Given the description of an element on the screen output the (x, y) to click on. 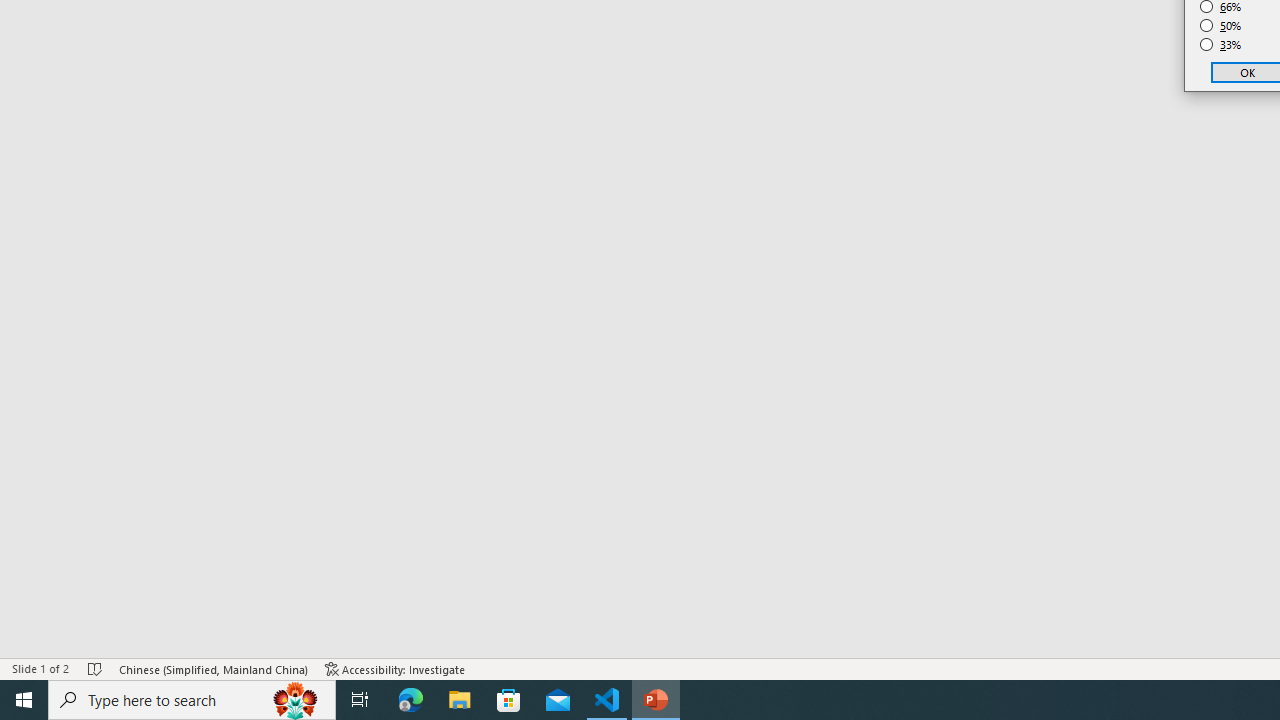
33% (1221, 44)
50% (1221, 25)
